Given the description of an element on the screen output the (x, y) to click on. 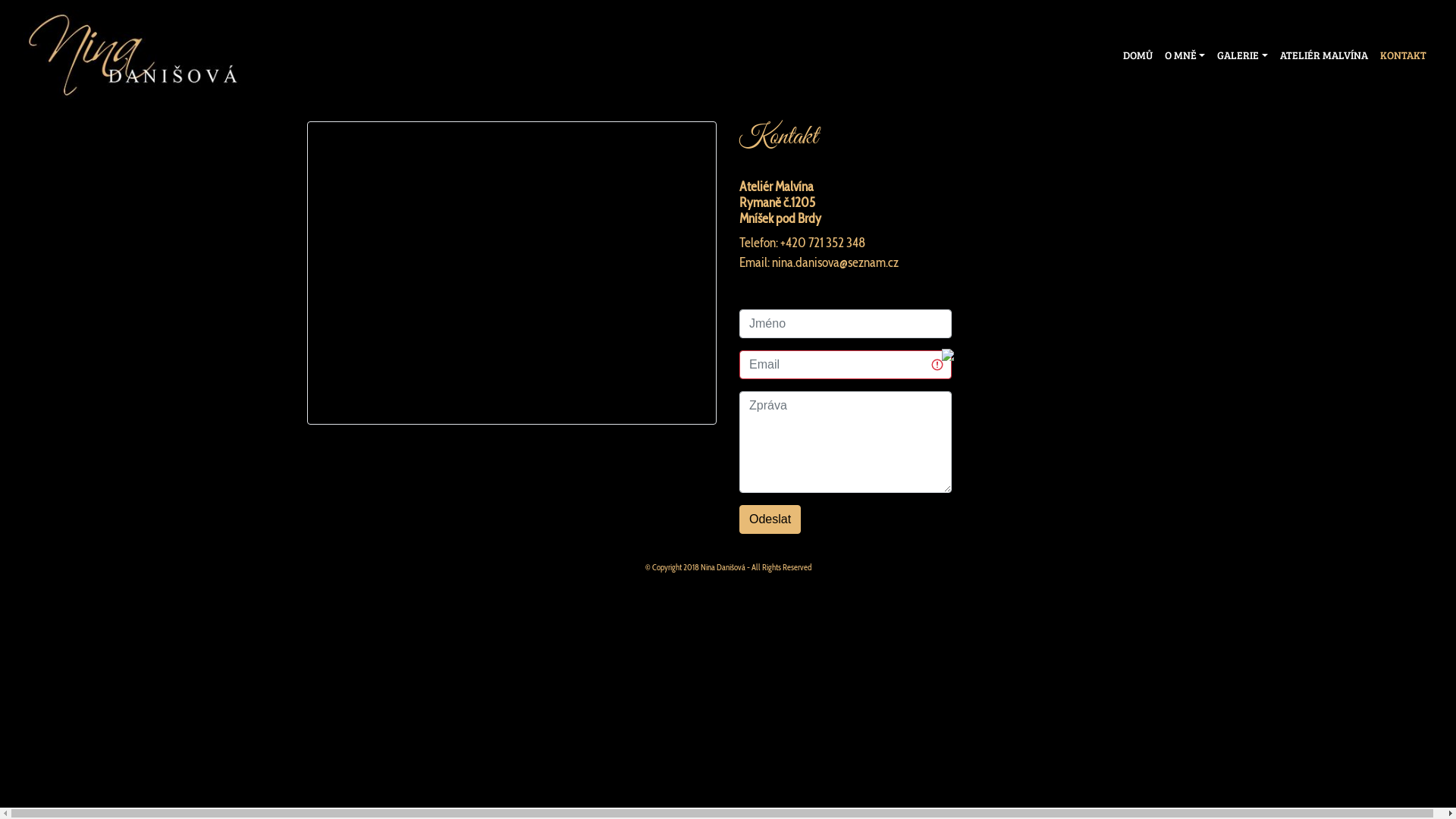
KONTAKT Element type: text (1403, 54)
Odeslat Element type: text (769, 519)
GALERIE Element type: text (1242, 54)
